Given the description of an element on the screen output the (x, y) to click on. 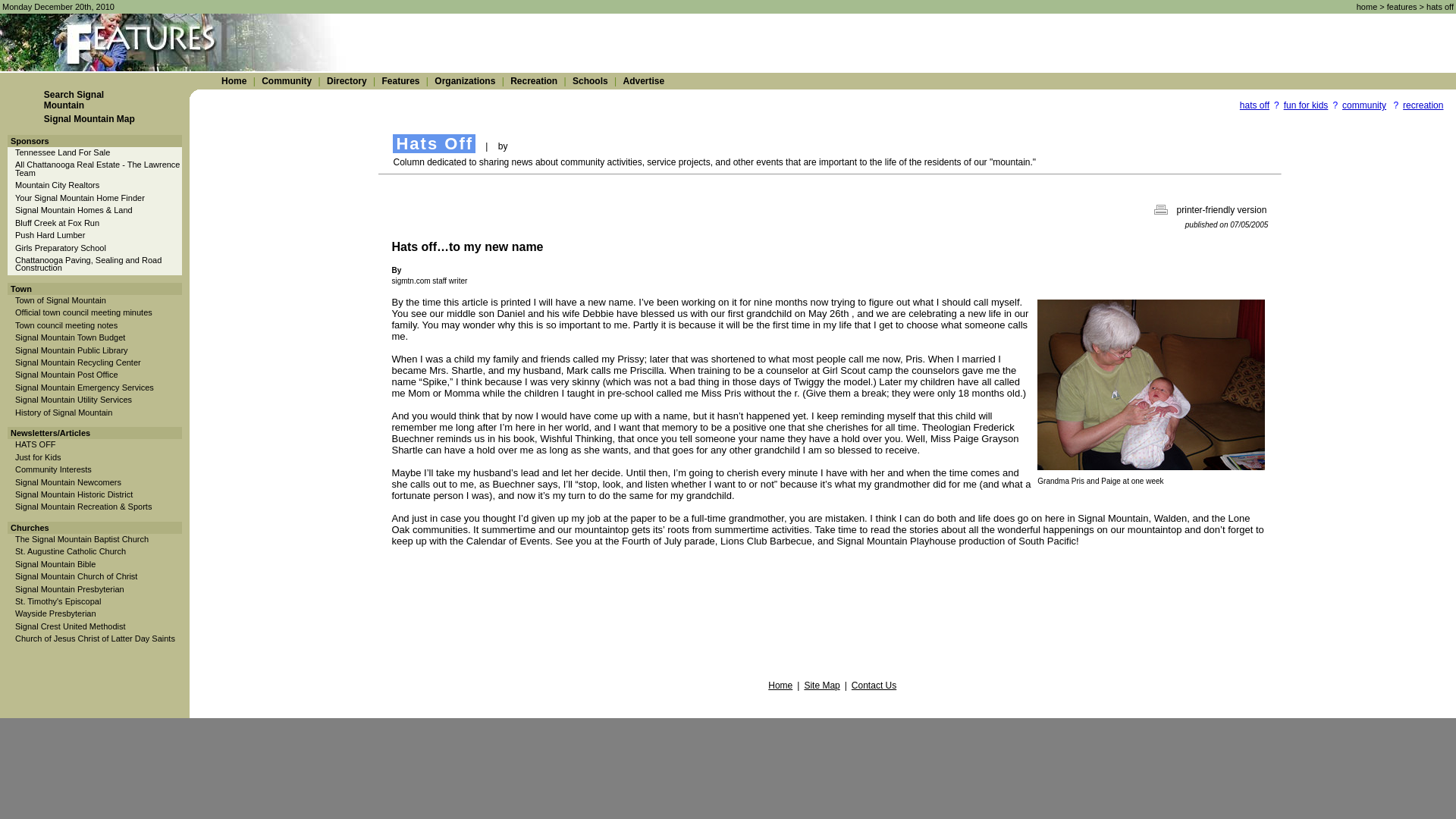
All Chattanooga Real Estate - The Lawrence Team (96, 167)
Recreation (534, 81)
Directory (346, 81)
Community Interests (52, 469)
Just for Kids (37, 456)
Push Hard Lumber (49, 234)
Schools (590, 81)
Signal Mountain Public Library (71, 349)
History of Signal Mountain (63, 411)
Your Signal Mountain Home Finder (79, 197)
Town council meeting notes (65, 325)
Community (286, 81)
Signal Mountain Map (89, 118)
The Signal Mountain Baptist Church (81, 538)
Signal Mountain Historic District (73, 493)
